Given the description of an element on the screen output the (x, y) to click on. 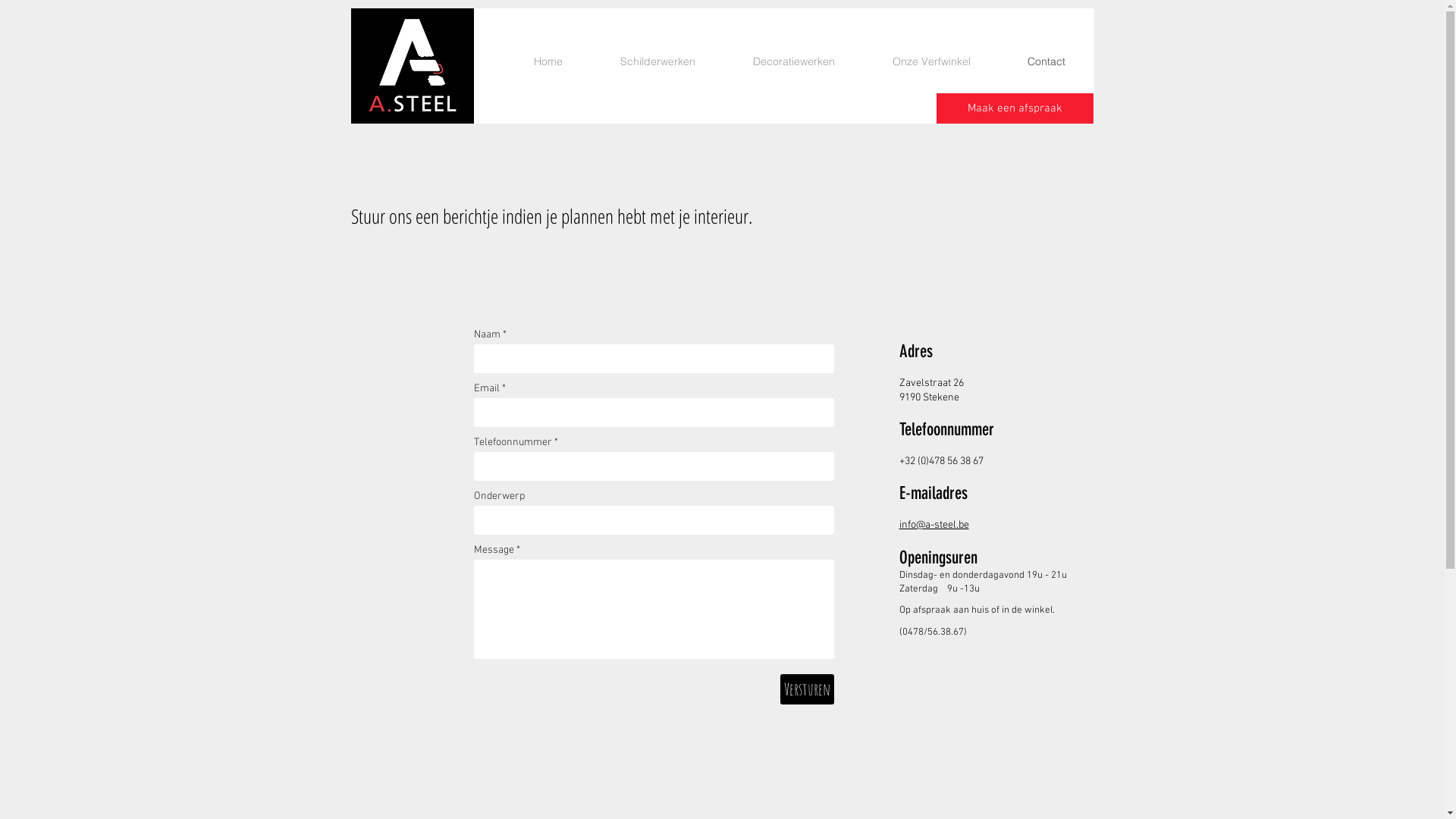
Onze Verfwinkel Element type: text (930, 61)
Contact Element type: text (1046, 61)
Schilderwerken Element type: text (657, 61)
Maak een afspraak Element type: text (1013, 108)
Logo_Asteel_WEB.jpg Element type: hover (411, 65)
Dinsdag- en donderdagavond 19u - 21u Element type: text (982, 573)
Decoratiewerken Element type: text (792, 61)
info@a-steel.be Element type: text (934, 523)
Home Element type: text (548, 61)
Versturen Element type: text (806, 689)
